Given the description of an element on the screen output the (x, y) to click on. 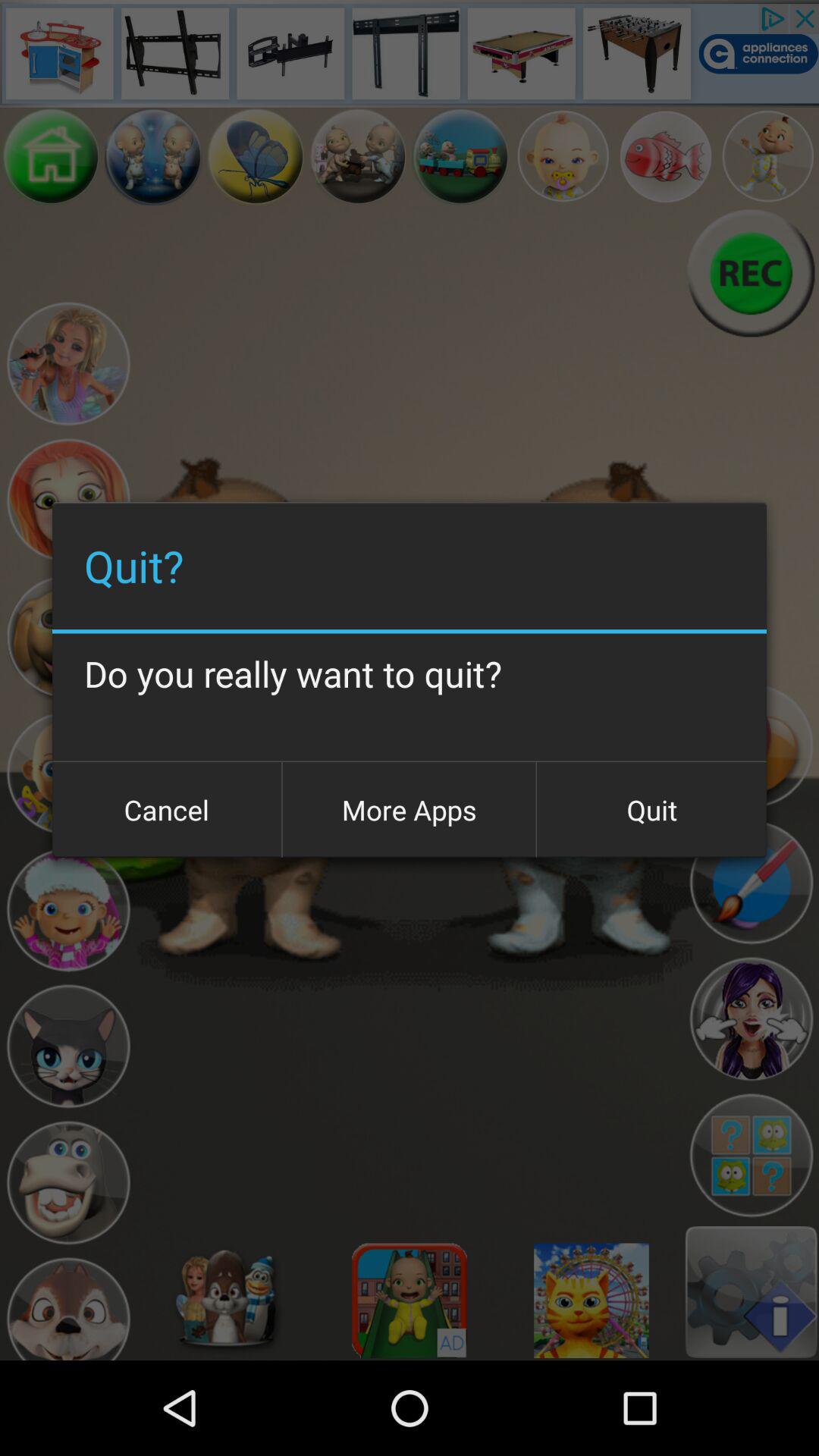
share the article (751, 1018)
